Given the description of an element on the screen output the (x, y) to click on. 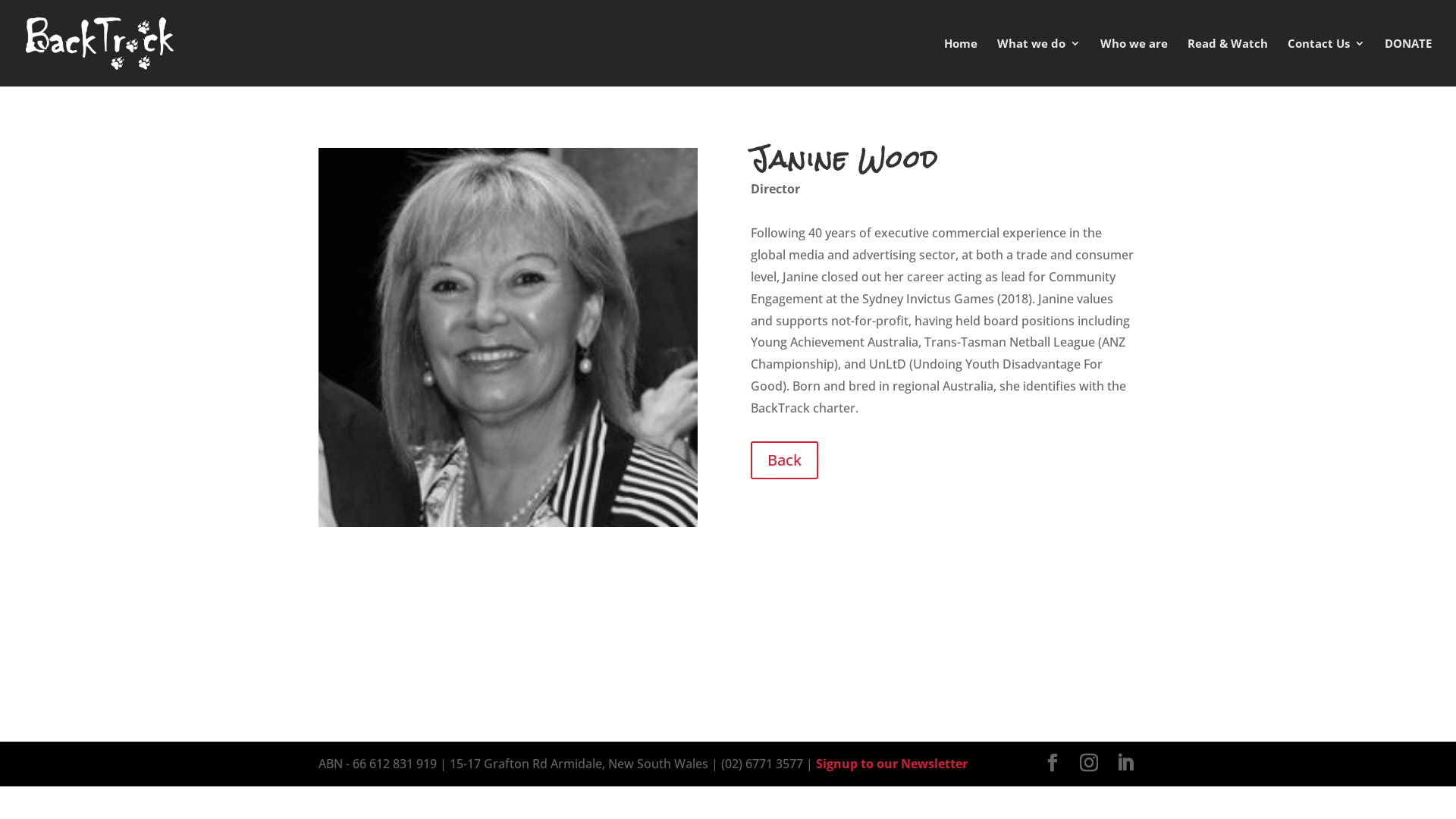
Home Element type: text (960, 61)
DONATE Element type: text (1407, 61)
Contact Us Element type: text (1326, 61)
Profile_JanineWood_500px Element type: hover (507, 337)
What we do Element type: text (1038, 61)
Read & Watch Element type: text (1227, 61)
Back Element type: text (784, 460)
Signup to our Newsletter Element type: text (891, 763)
Who we are Element type: text (1133, 61)
